Given the description of an element on the screen output the (x, y) to click on. 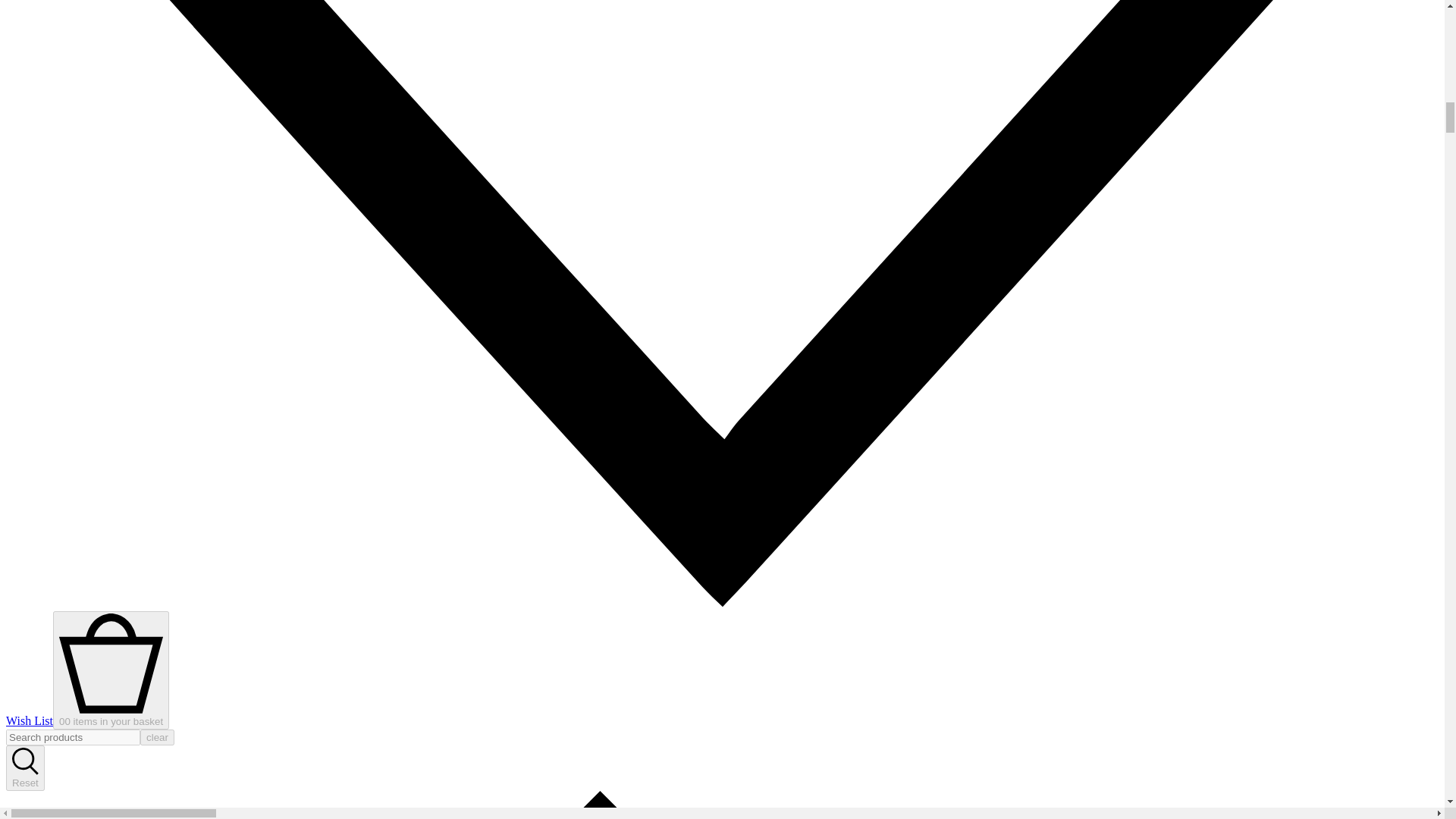
BagFilled (111, 715)
Search (25, 771)
clear (156, 737)
0 items in your basket (110, 669)
Jackets (721, 805)
